Given the description of an element on the screen output the (x, y) to click on. 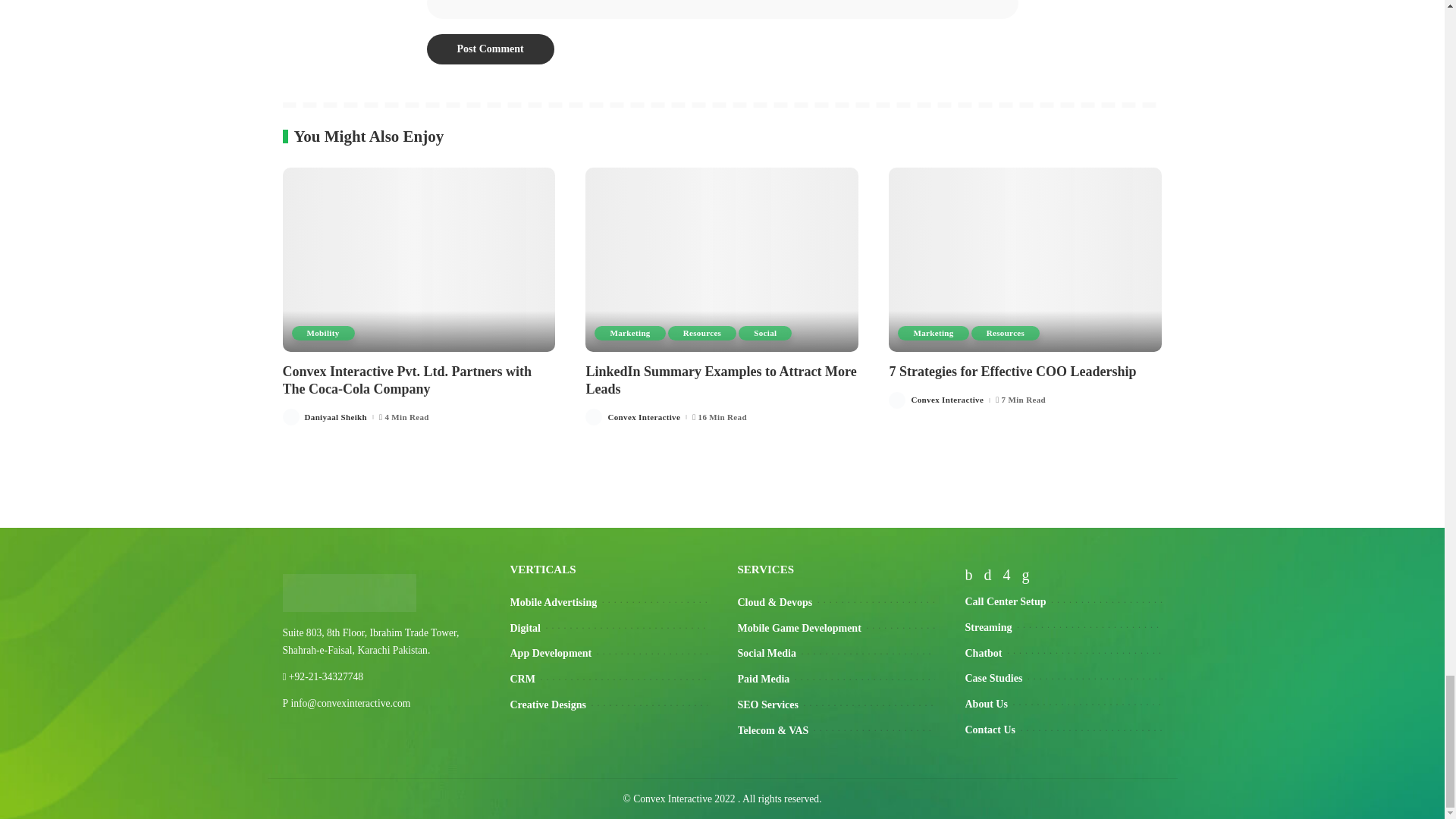
Post Comment (489, 49)
